Given the description of an element on the screen output the (x, y) to click on. 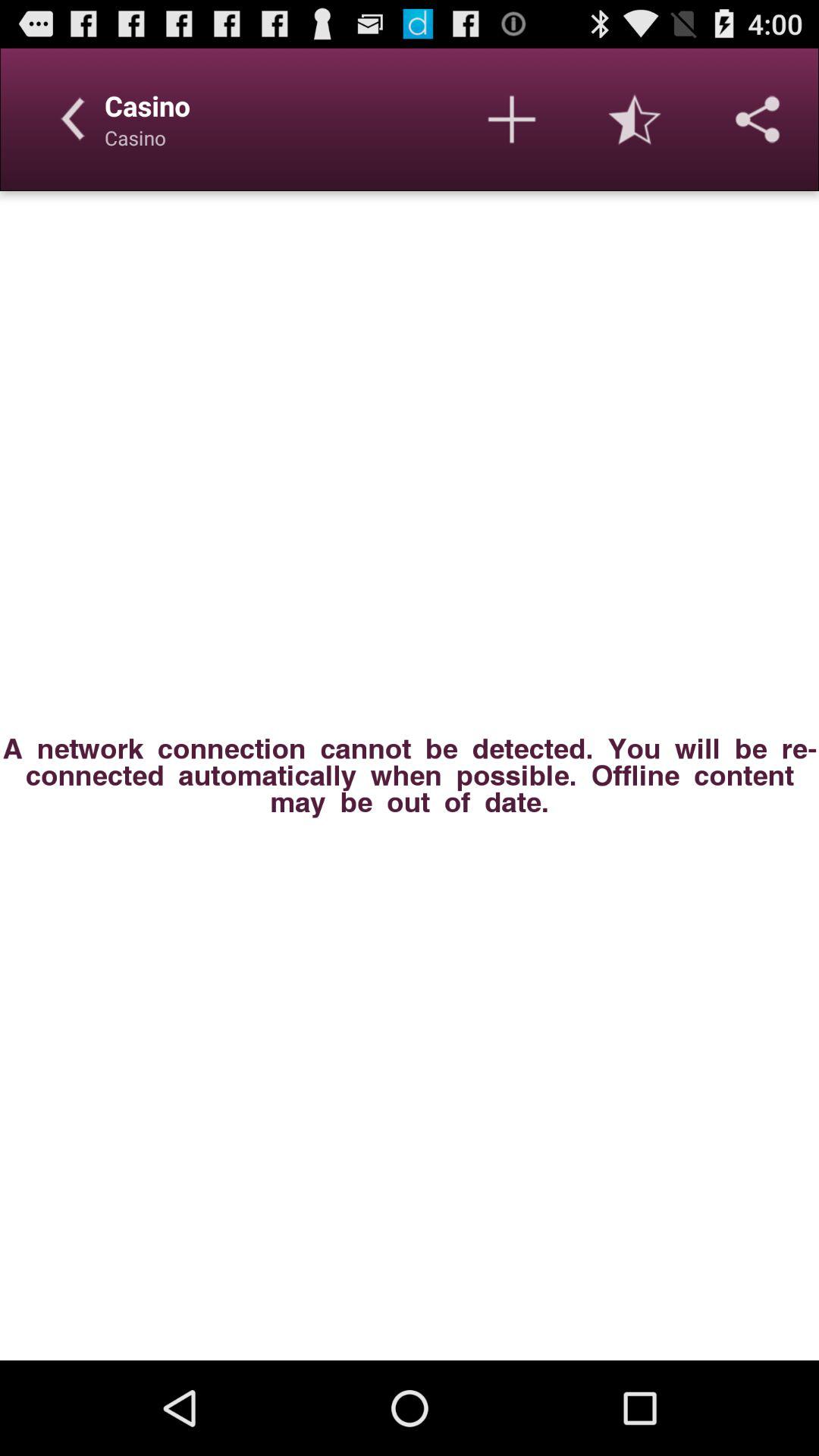
open app next to the casino icon (511, 119)
